Given the description of an element on the screen output the (x, y) to click on. 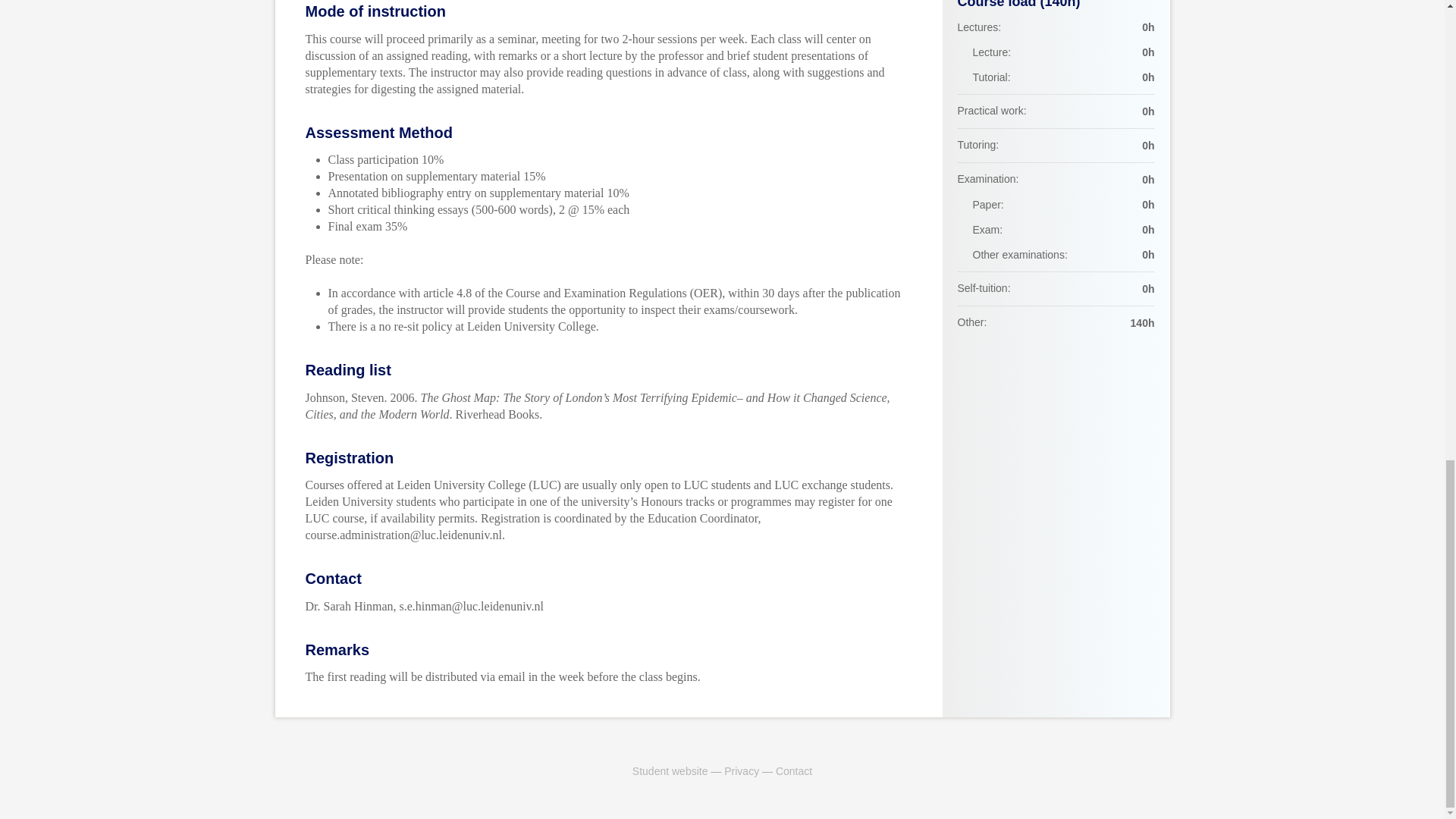
Contact (794, 770)
Student website (669, 770)
Privacy (740, 770)
